Given the description of an element on the screen output the (x, y) to click on. 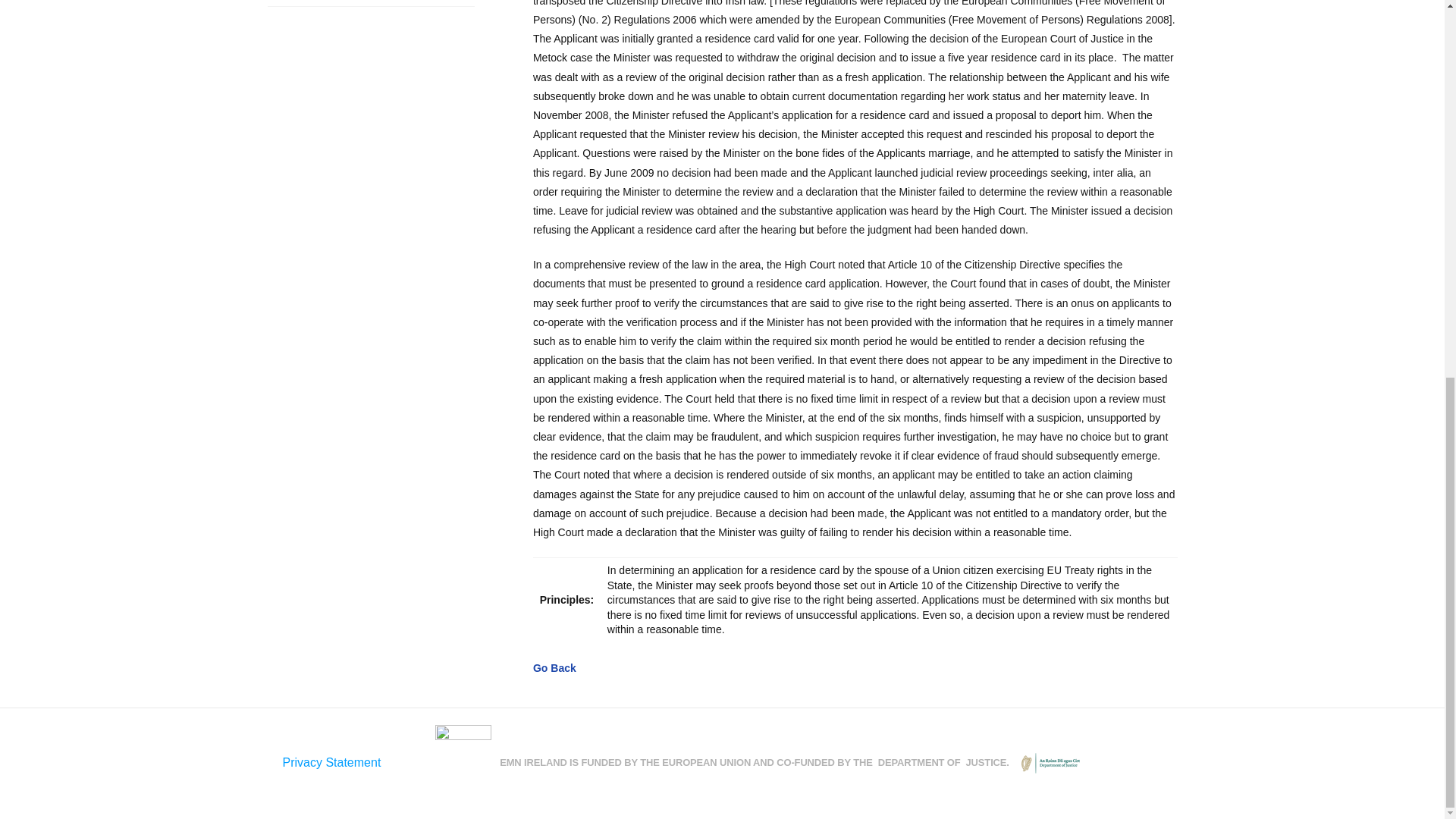
Go Back (554, 667)
Privacy Statement (331, 762)
